Given the description of an element on the screen output the (x, y) to click on. 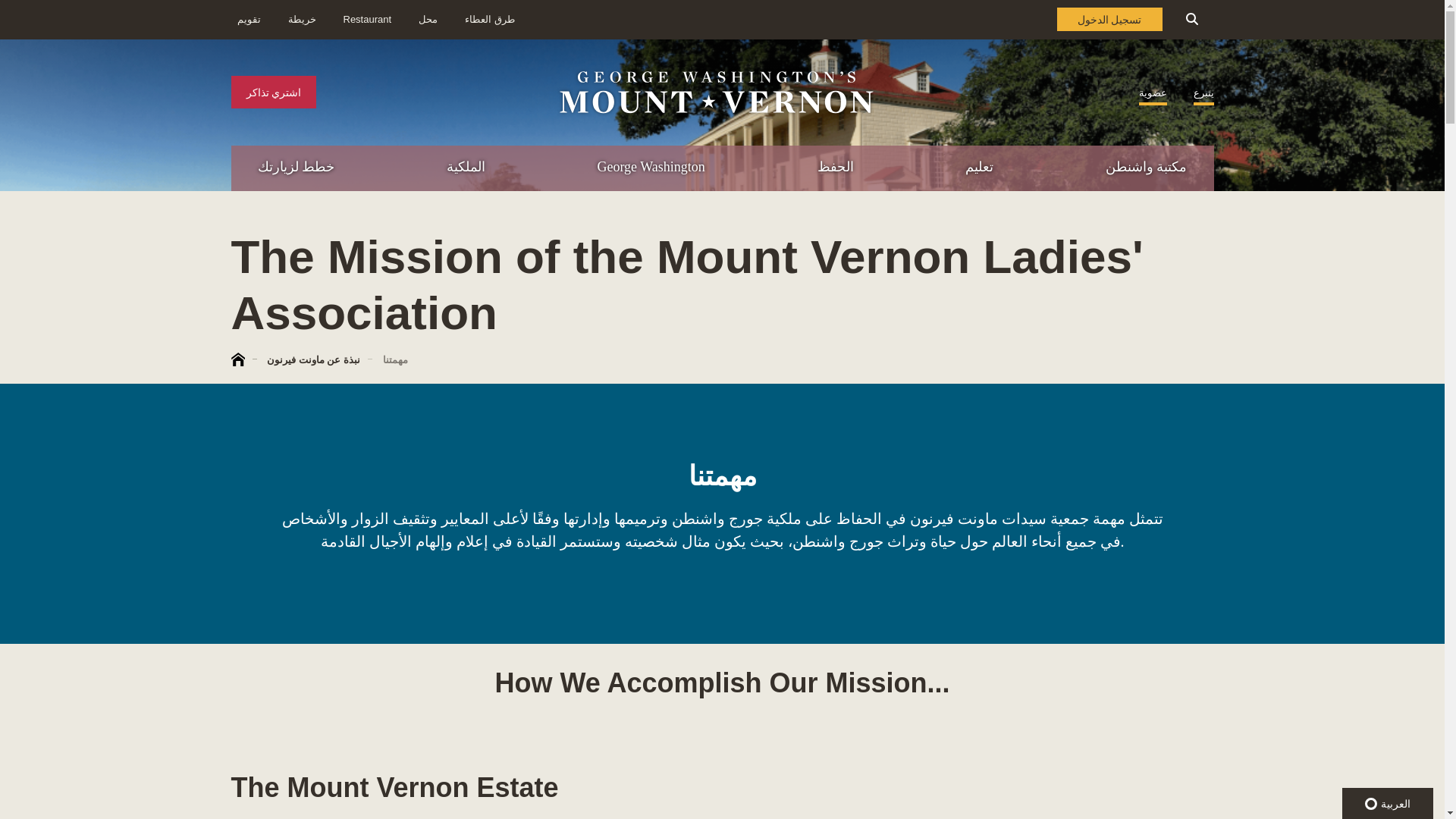
RESTAURANT (1377, 232)
SUPPORT (1283, 263)
Restaurant (366, 19)
Restaurant (428, 19)
